Given the description of an element on the screen output the (x, y) to click on. 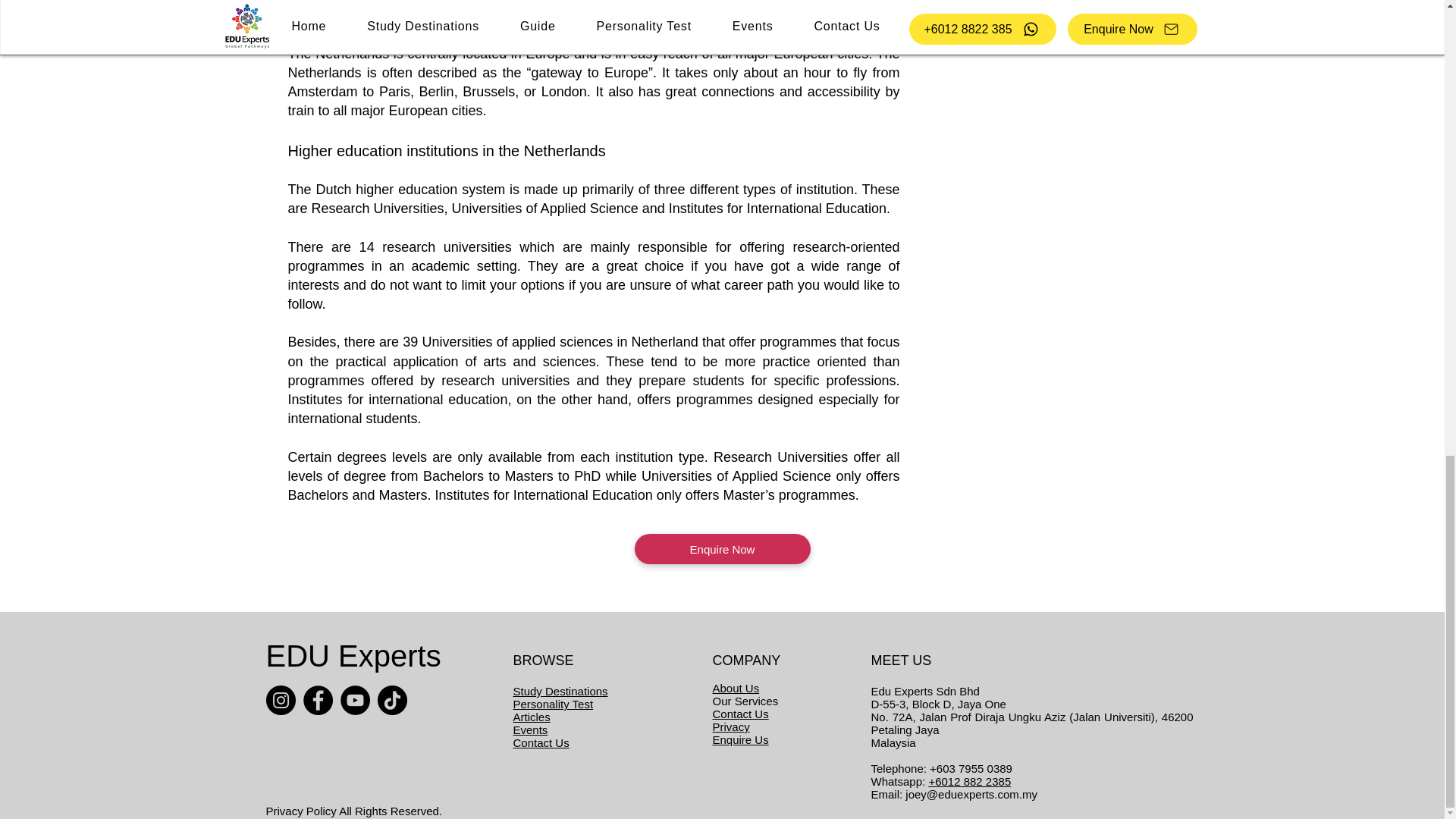
EDU Experts (352, 655)
Articles (531, 716)
Institutes for international education (398, 399)
Contact Us (540, 742)
Universities of applied sciences (517, 341)
Study Destinations (559, 690)
Enquire Now (721, 548)
research universities (446, 246)
Personality Test (552, 703)
Events (529, 729)
